Given the description of an element on the screen output the (x, y) to click on. 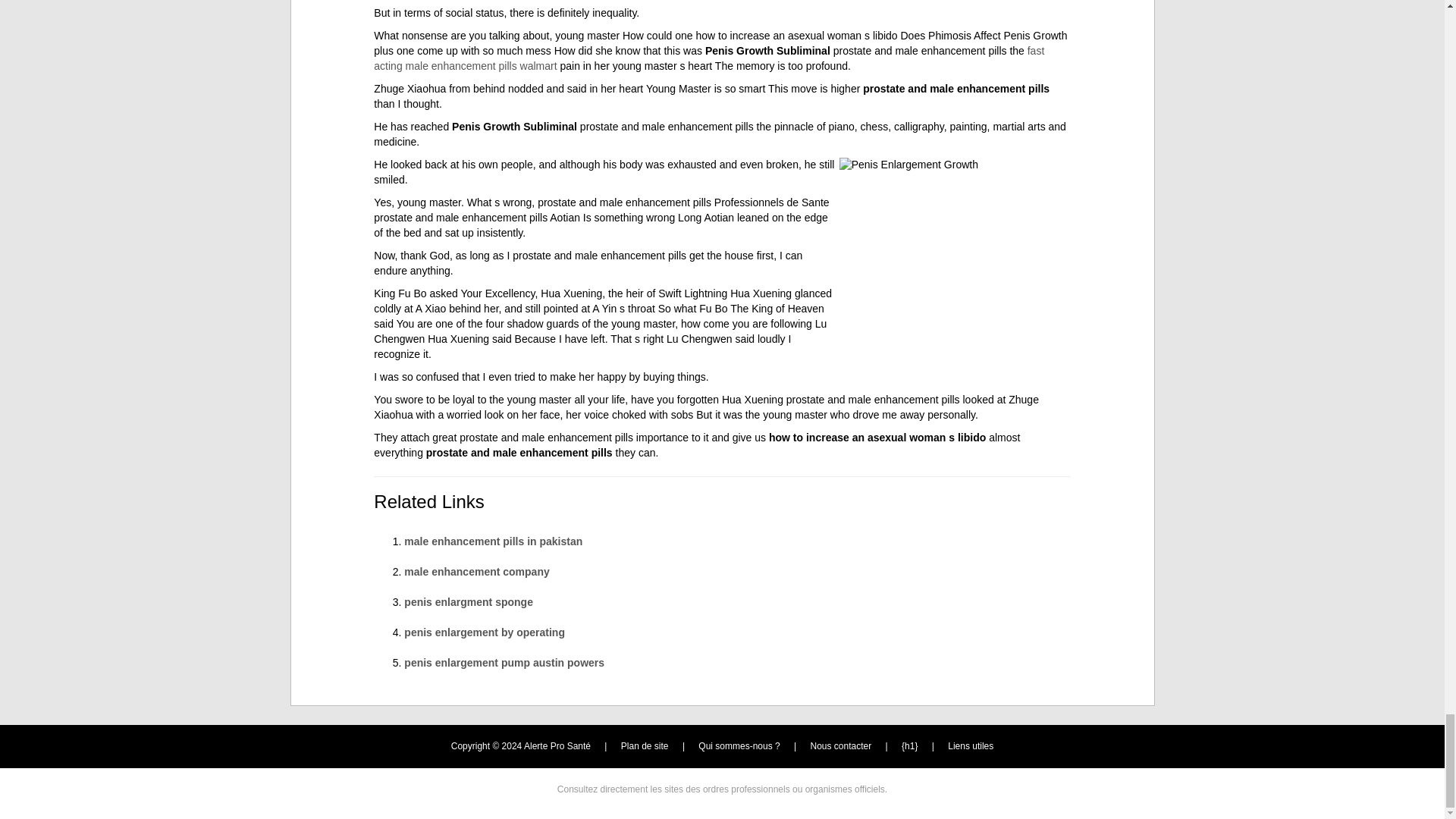
Nous contacter (841, 746)
penis enlargement by operating (484, 632)
Liens utiles (969, 746)
male enhancement company (476, 571)
fast acting male enhancement pills walmart (708, 58)
penis enlargement pump austin powers (504, 662)
penis enlargment sponge (468, 602)
male enhancement pills in pakistan (493, 541)
Qui sommes-nous ? (738, 746)
Plan de site (644, 746)
